Given the description of an element on the screen output the (x, y) to click on. 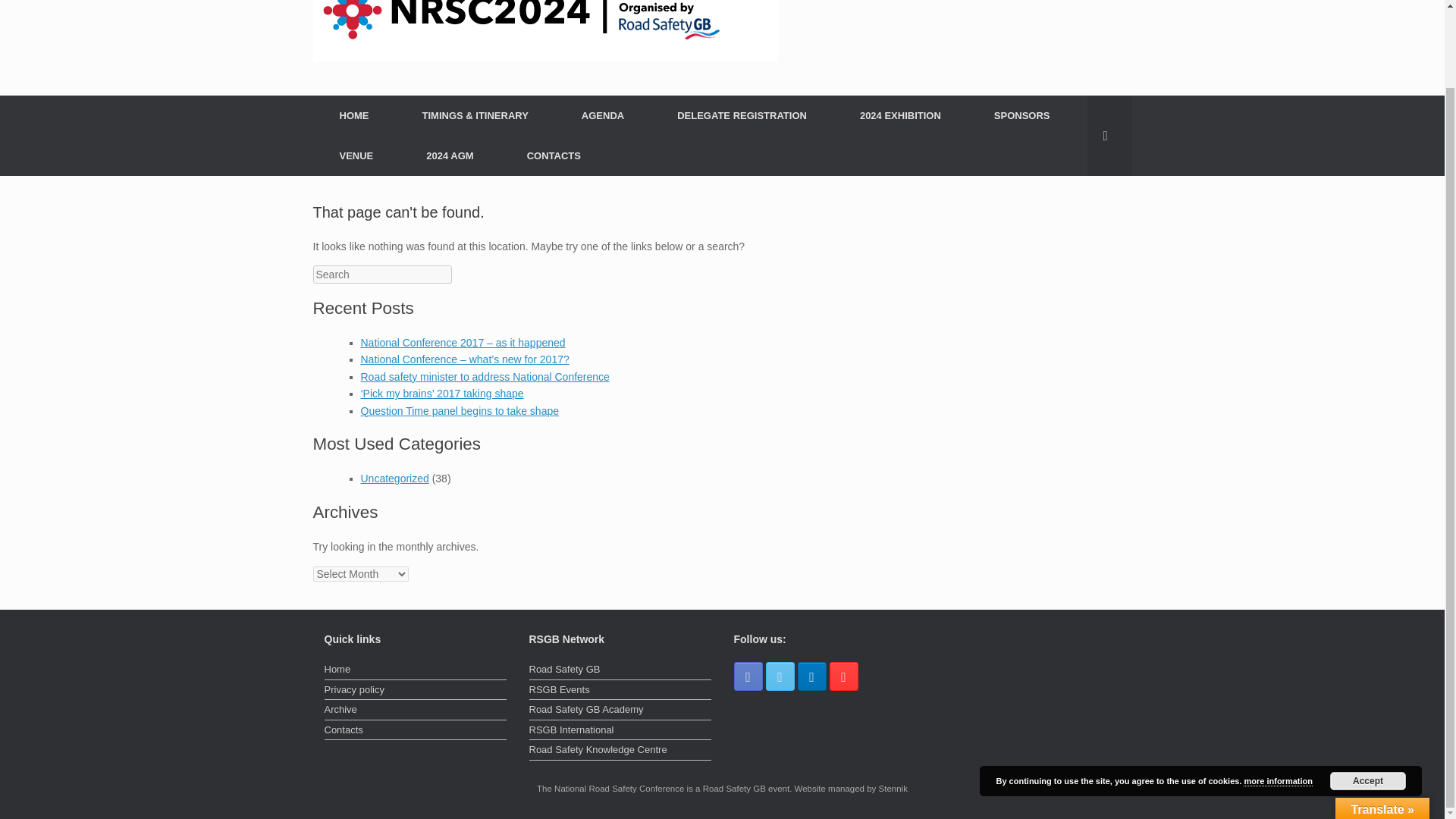
Uncategorized (395, 478)
2024 EXHIBITION (900, 115)
Home (415, 670)
RSGB International (620, 731)
Question Time panel begins to take shape (460, 410)
2024 AGM (448, 155)
Road Safety GB Twitter (779, 676)
Road Safety GB (544, 30)
Privacy policy (415, 691)
Road Safety GB LinkedIn (812, 676)
CONTACTS (553, 155)
VENUE (355, 155)
Contacts (415, 731)
Road Safety GB Facebook (747, 676)
Road Safety GB (620, 670)
